Given the description of an element on the screen output the (x, y) to click on. 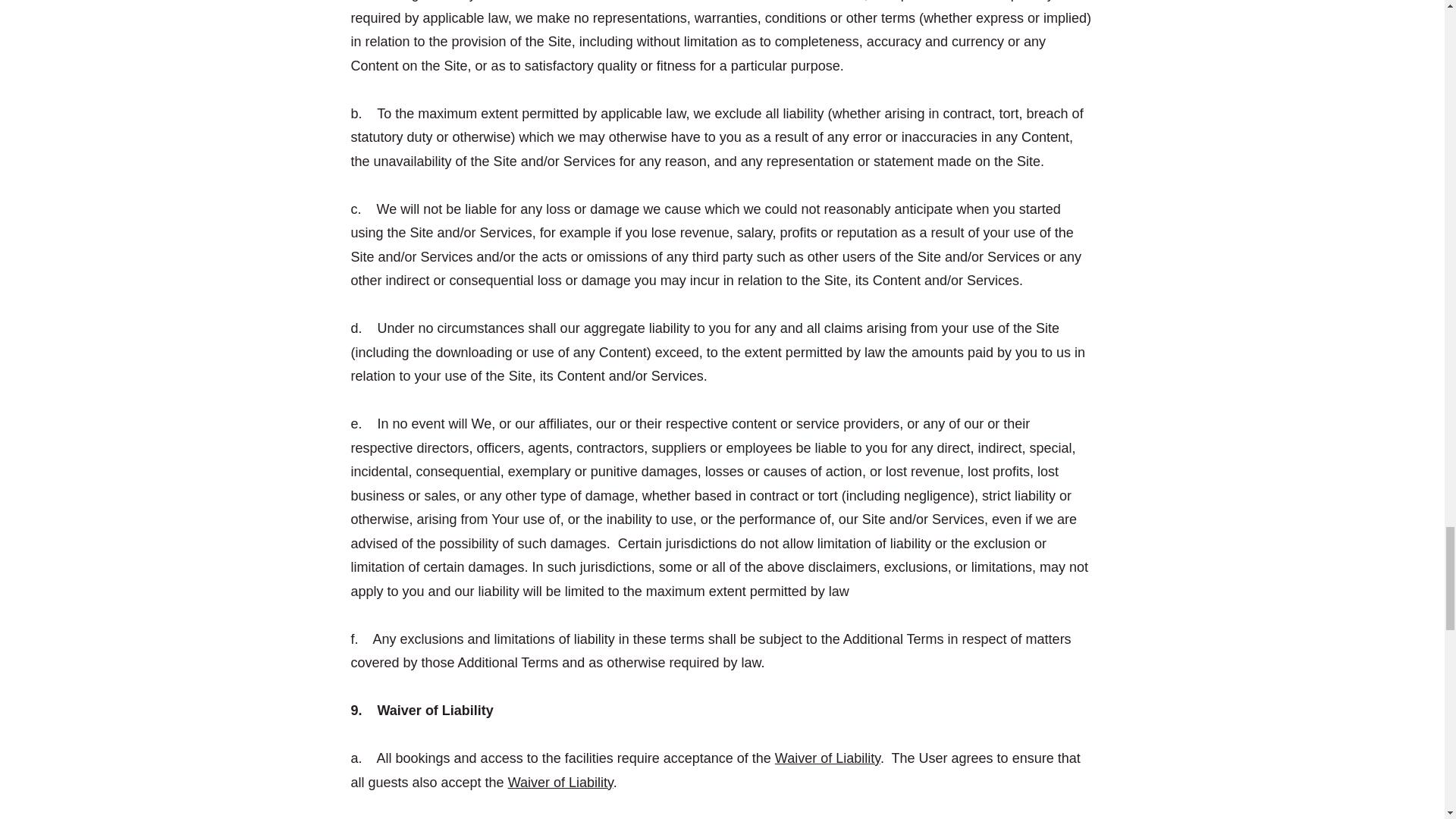
Waiver of Liability (827, 758)
Waiver of Liability (560, 782)
